Given the description of an element on the screen output the (x, y) to click on. 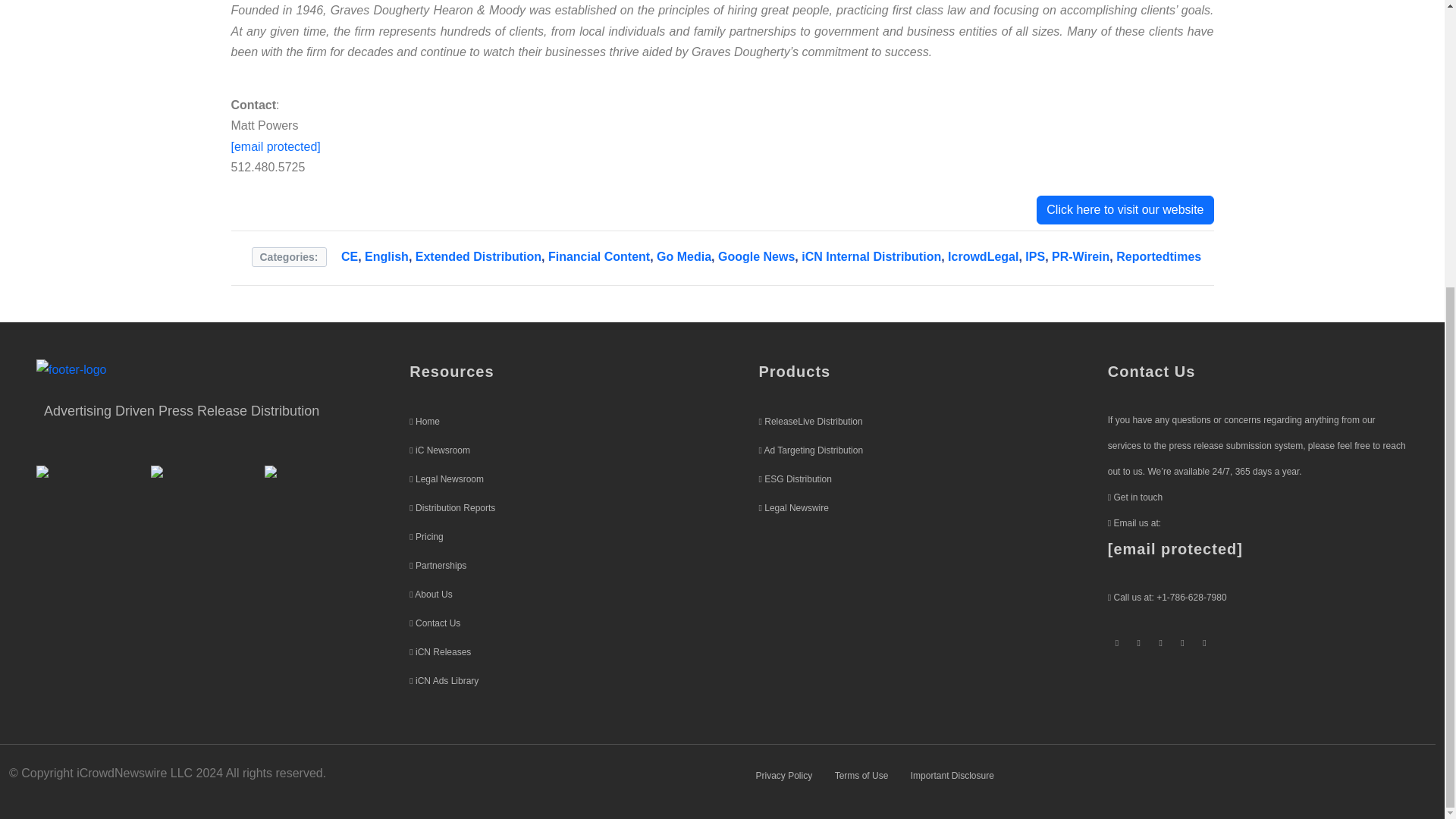
PR-Wirein (1080, 256)
Go Media (683, 256)
English (387, 256)
Click here to visit our website (1124, 209)
Reportedtimes (1158, 256)
Extended Distribution (477, 256)
IcrowdLegal (982, 256)
IPS (1035, 256)
CE (349, 256)
Google News (755, 256)
Financial Content (598, 256)
iCN Internal Distribution (871, 256)
Home (426, 421)
